Given the description of an element on the screen output the (x, y) to click on. 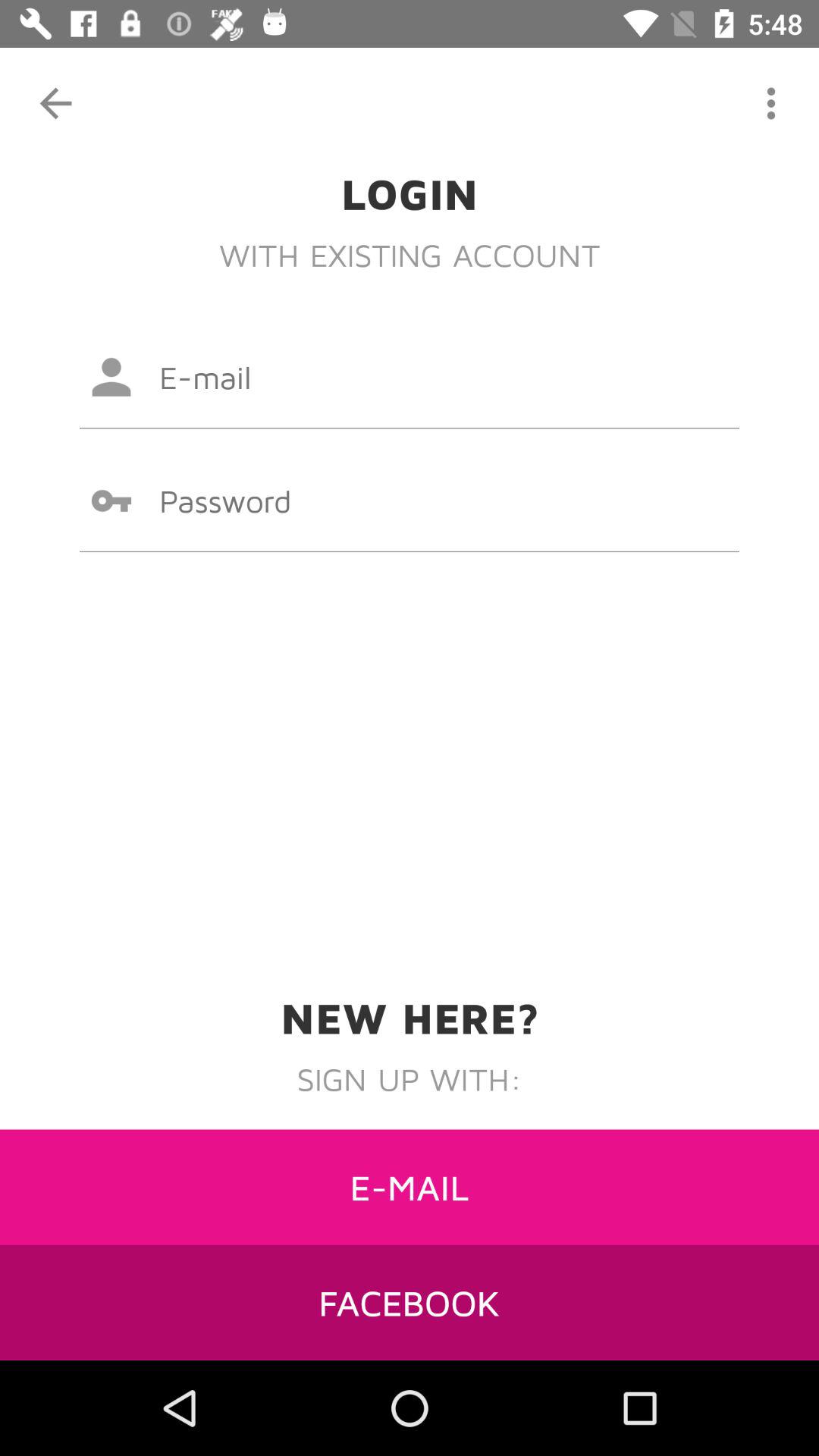
type email (409, 376)
